Given the description of an element on the screen output the (x, y) to click on. 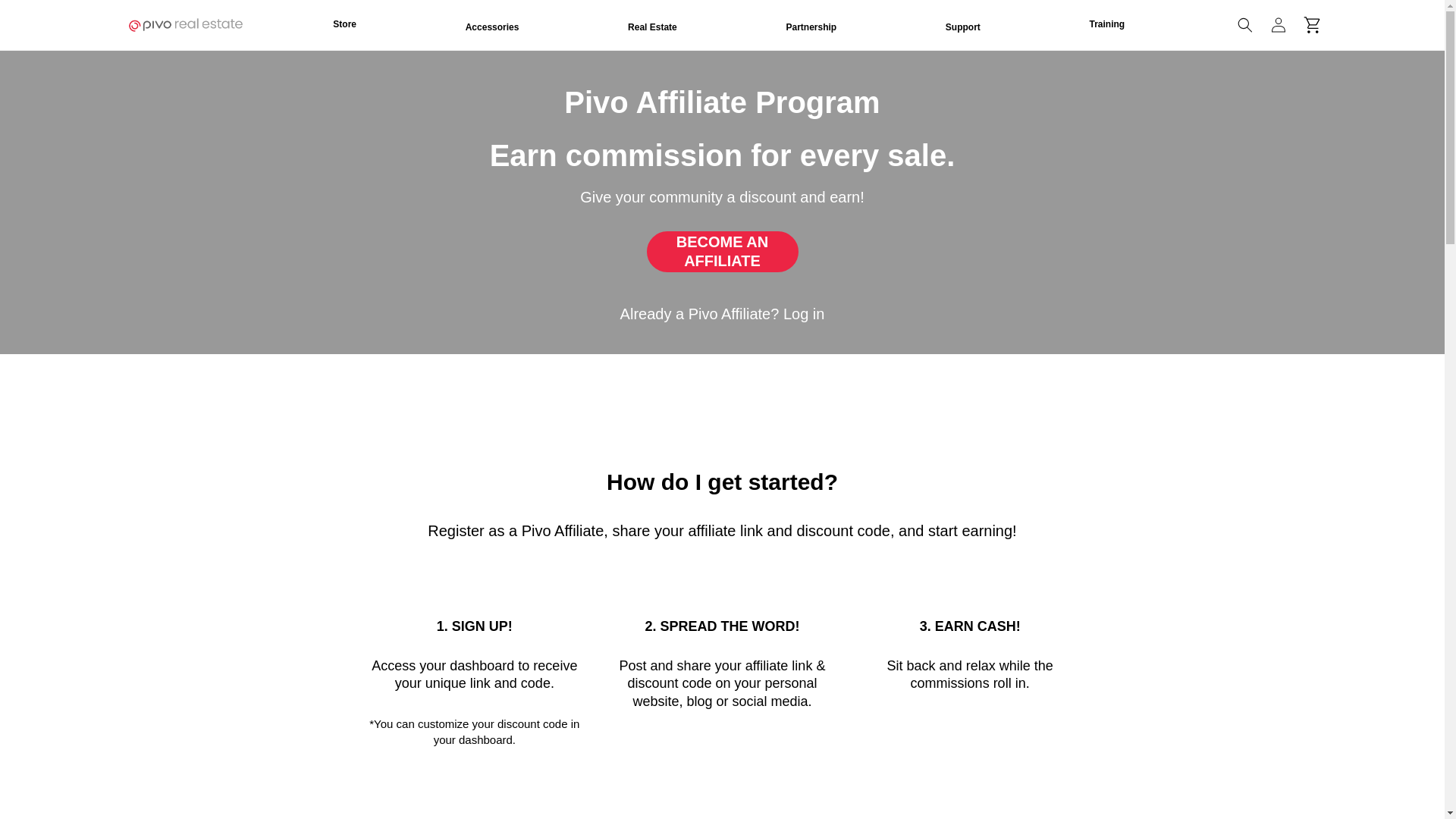
Ignorer et passer au contenu (45, 17)
Store (344, 24)
